Given the description of an element on the screen output the (x, y) to click on. 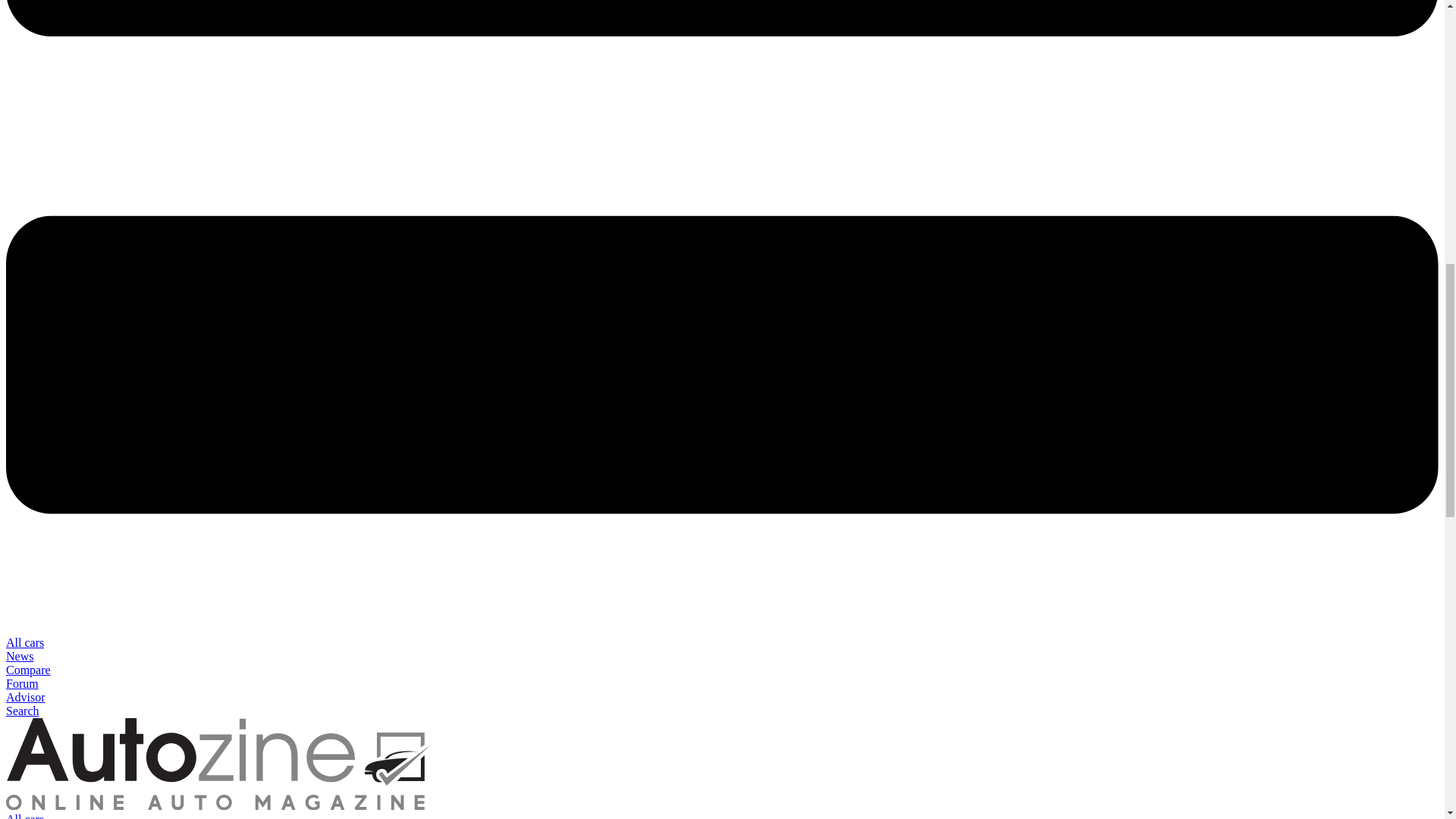
All cars (24, 642)
Advisor (25, 697)
Forum (22, 683)
Search (22, 710)
All cars (24, 816)
Compare (27, 669)
News (19, 656)
